Given the description of an element on the screen output the (x, y) to click on. 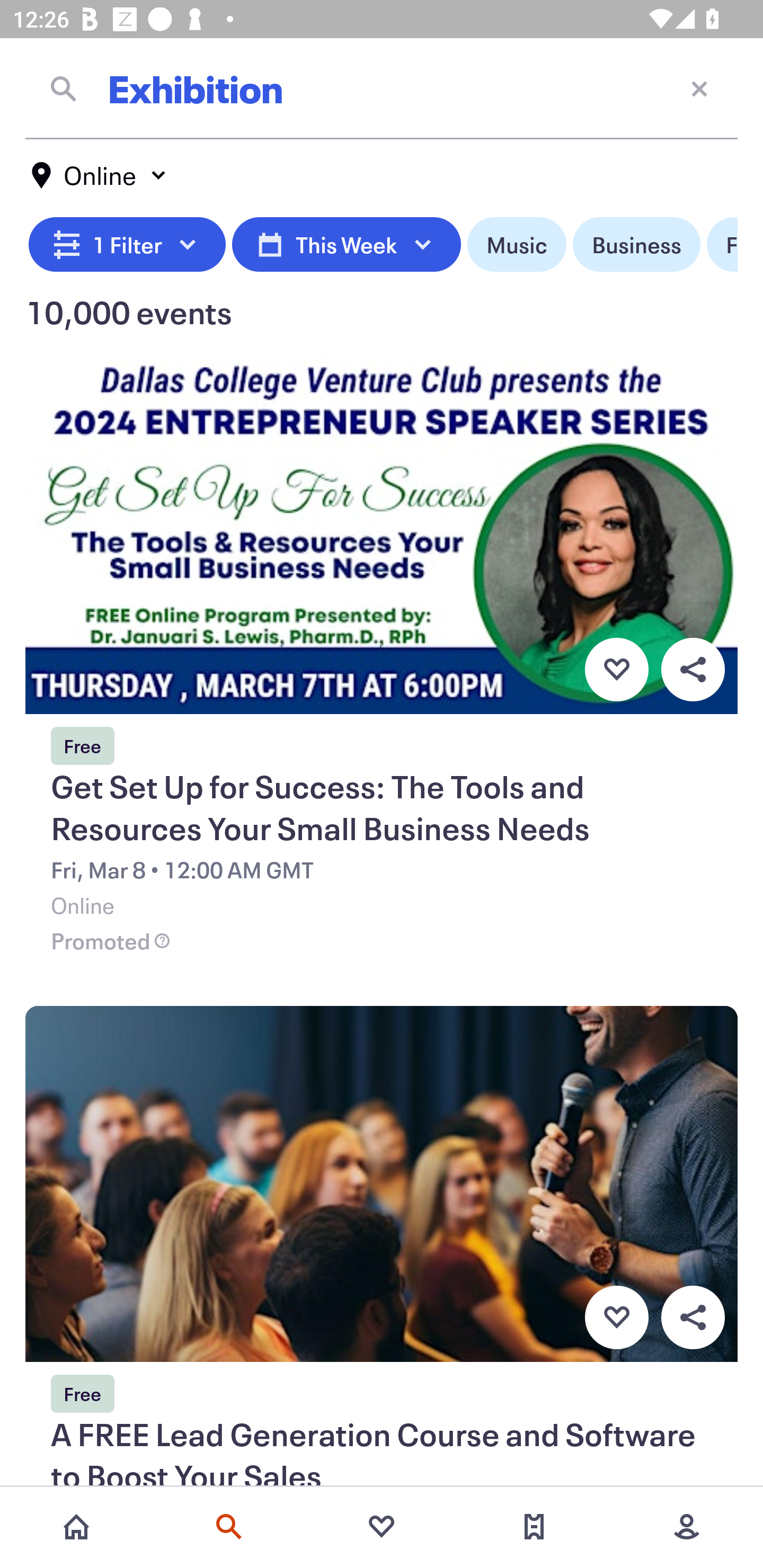
Exhibition Close current screen (381, 88)
Close current screen (699, 88)
Online (99, 175)
1 Filter (126, 244)
This Week (345, 244)
Music (516, 244)
Business (636, 244)
Favorite button (616, 669)
Overflow menu button (692, 669)
Favorite button (616, 1317)
Overflow menu button (692, 1317)
Home (76, 1526)
Search events (228, 1526)
Favorites (381, 1526)
Tickets (533, 1526)
More (686, 1526)
